Given the description of an element on the screen output the (x, y) to click on. 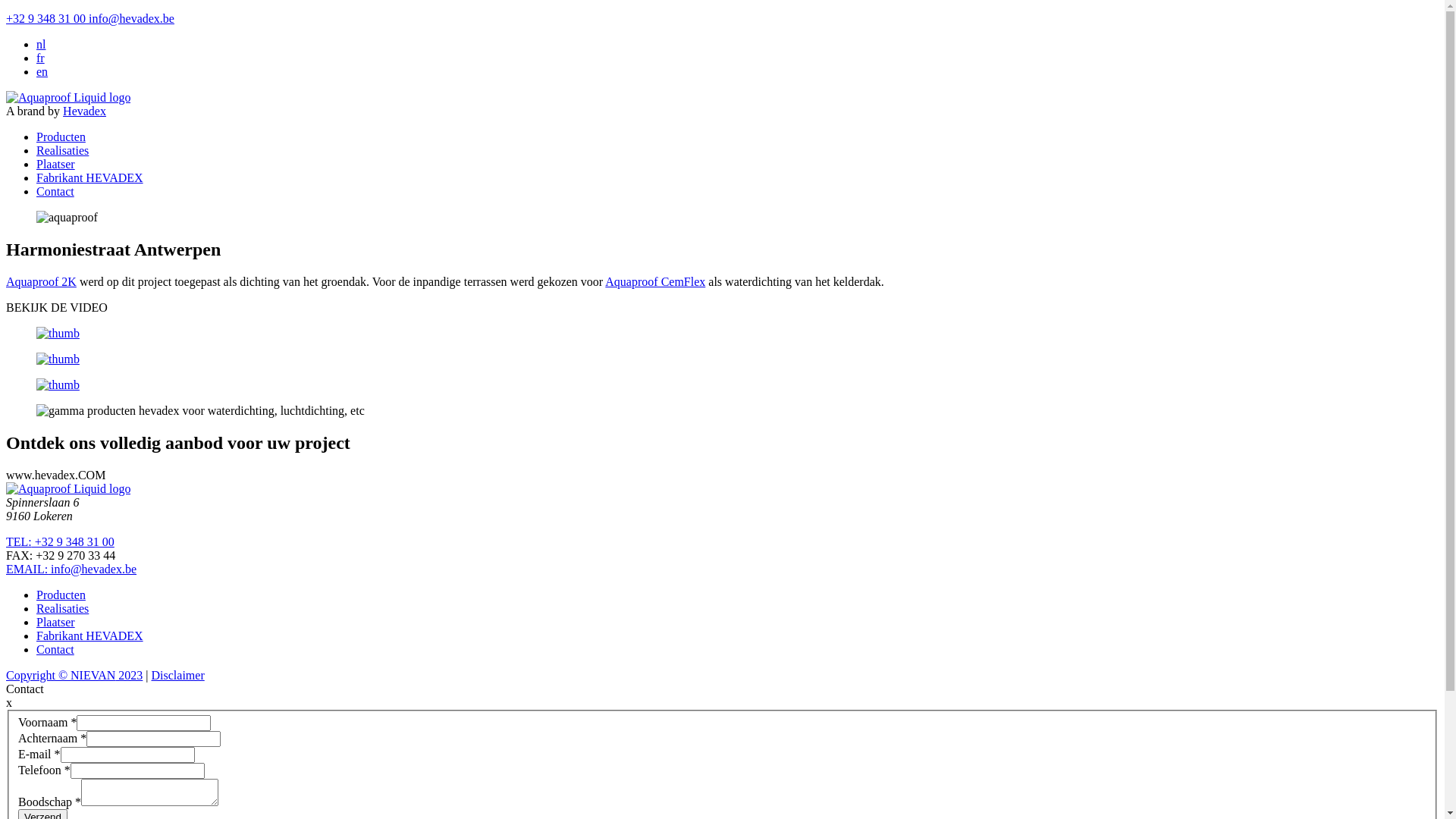
TEL: +32 9 348 31 00 Element type: text (60, 541)
nl Element type: text (40, 43)
Contact Element type: text (55, 649)
Contact Element type: text (55, 191)
Producten Element type: text (60, 136)
Plaatser Element type: text (55, 621)
EMAIL: info@hevadex.be Element type: text (71, 568)
x Element type: text (9, 702)
Realisaties Element type: text (62, 150)
Fabrikant HEVADEX Element type: text (89, 635)
Hevadex Element type: text (84, 110)
en Element type: text (41, 71)
Plaatser Element type: text (55, 163)
Aquaproof CemFlex Element type: text (655, 281)
info@hevadex.be Element type: text (129, 18)
www.hevadex.COM Element type: text (55, 474)
+32 9 348 31 00 Element type: text (45, 18)
Disclaimer Element type: text (177, 674)
Fabrikant HEVADEX Element type: text (89, 177)
fr Element type: text (40, 57)
Aquaproof 2K Element type: text (41, 281)
BEKIJK DE VIDEO Element type: text (56, 307)
Producten Element type: text (60, 594)
Realisaties Element type: text (62, 608)
